Given the description of an element on the screen output the (x, y) to click on. 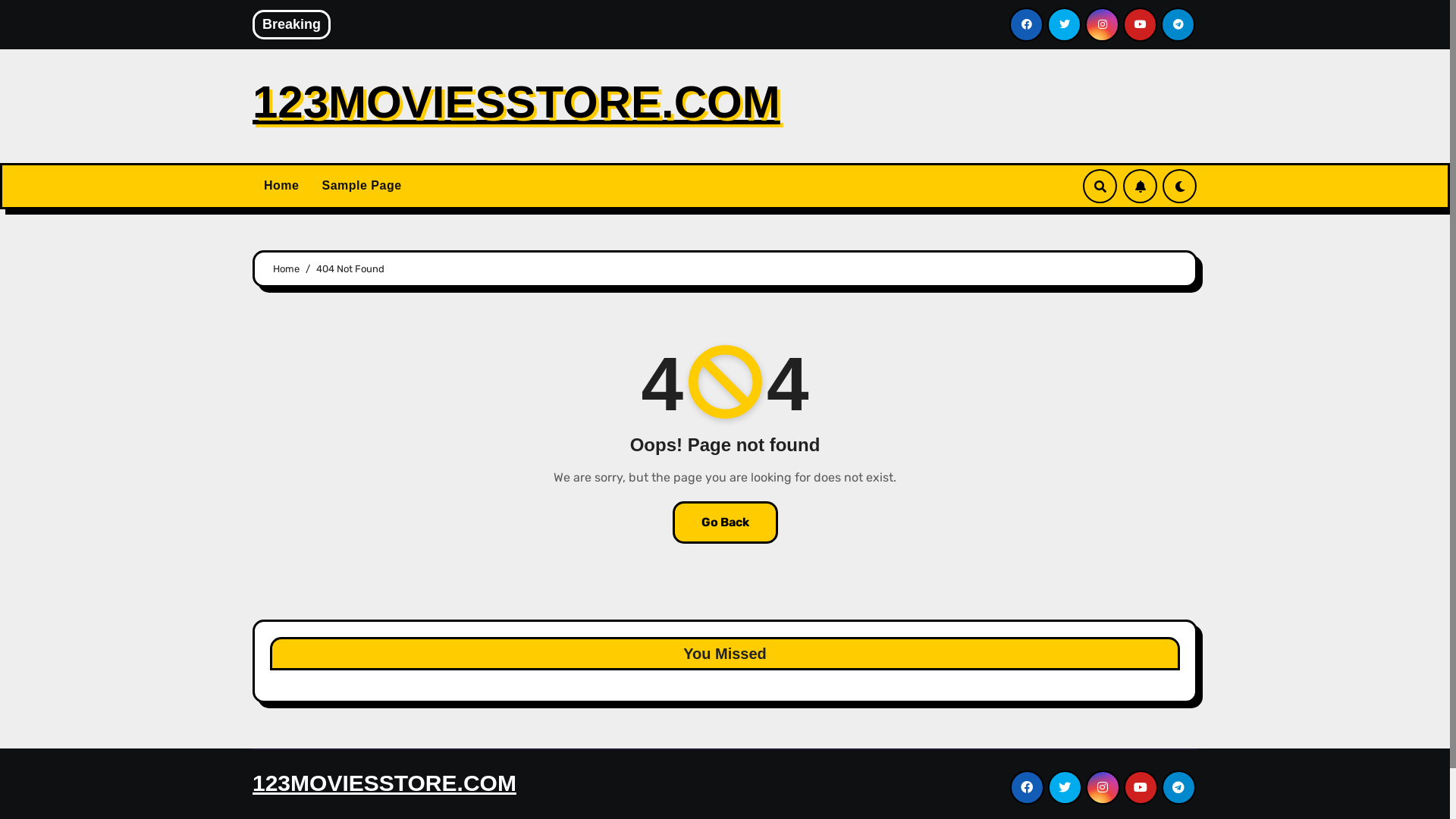
Sample Page Element type: text (361, 185)
123MOVIESSTORE.COM Element type: text (516, 101)
123MOVIESSTORE.COM Element type: text (384, 782)
Home Element type: text (281, 185)
Home Element type: text (286, 268)
Go Back Element type: text (724, 522)
